Given the description of an element on the screen output the (x, y) to click on. 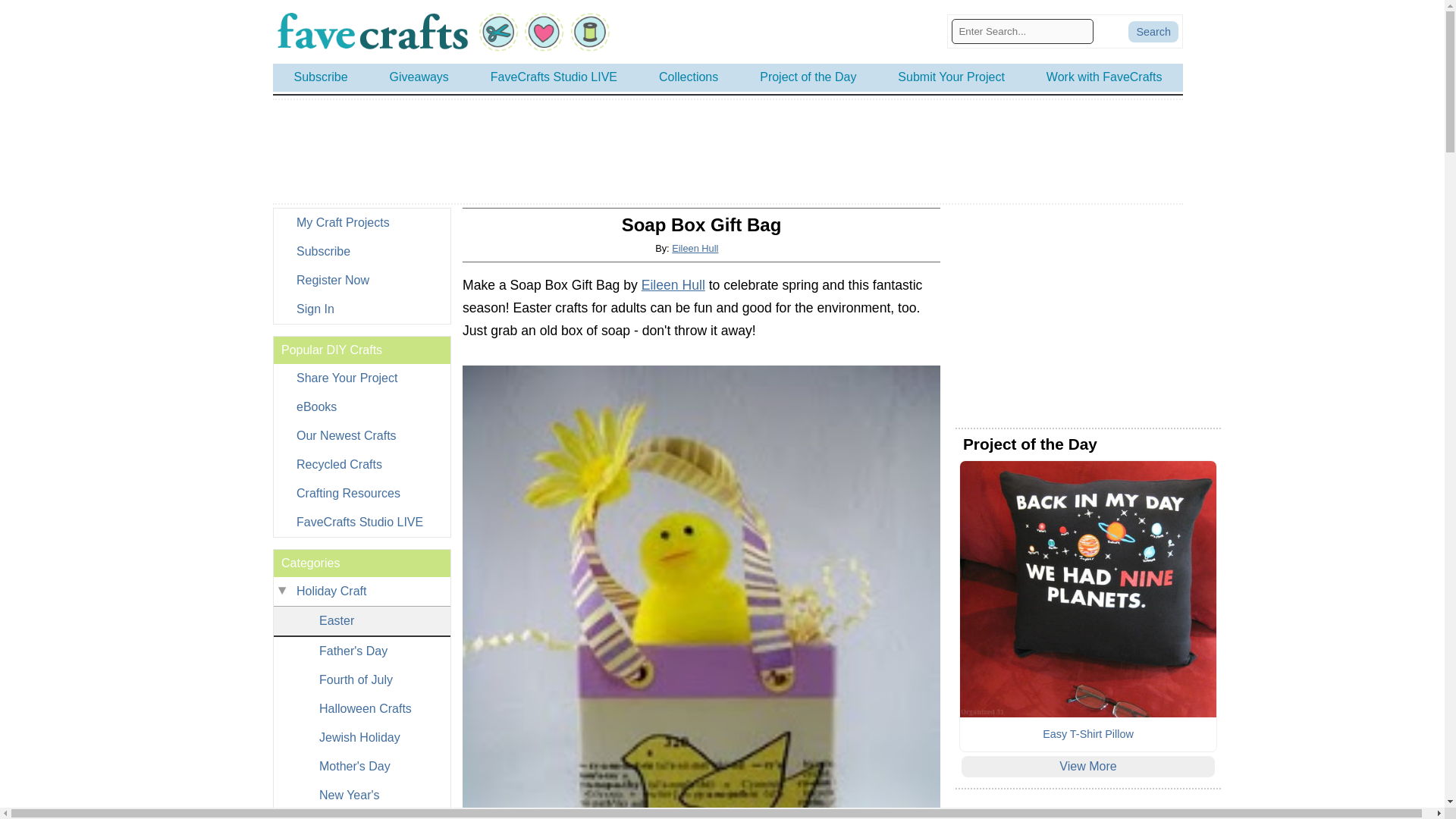
My Craft Projects (361, 222)
Sign In (361, 308)
Register Now (361, 280)
Search (1152, 31)
Subscribe (361, 251)
